Given the description of an element on the screen output the (x, y) to click on. 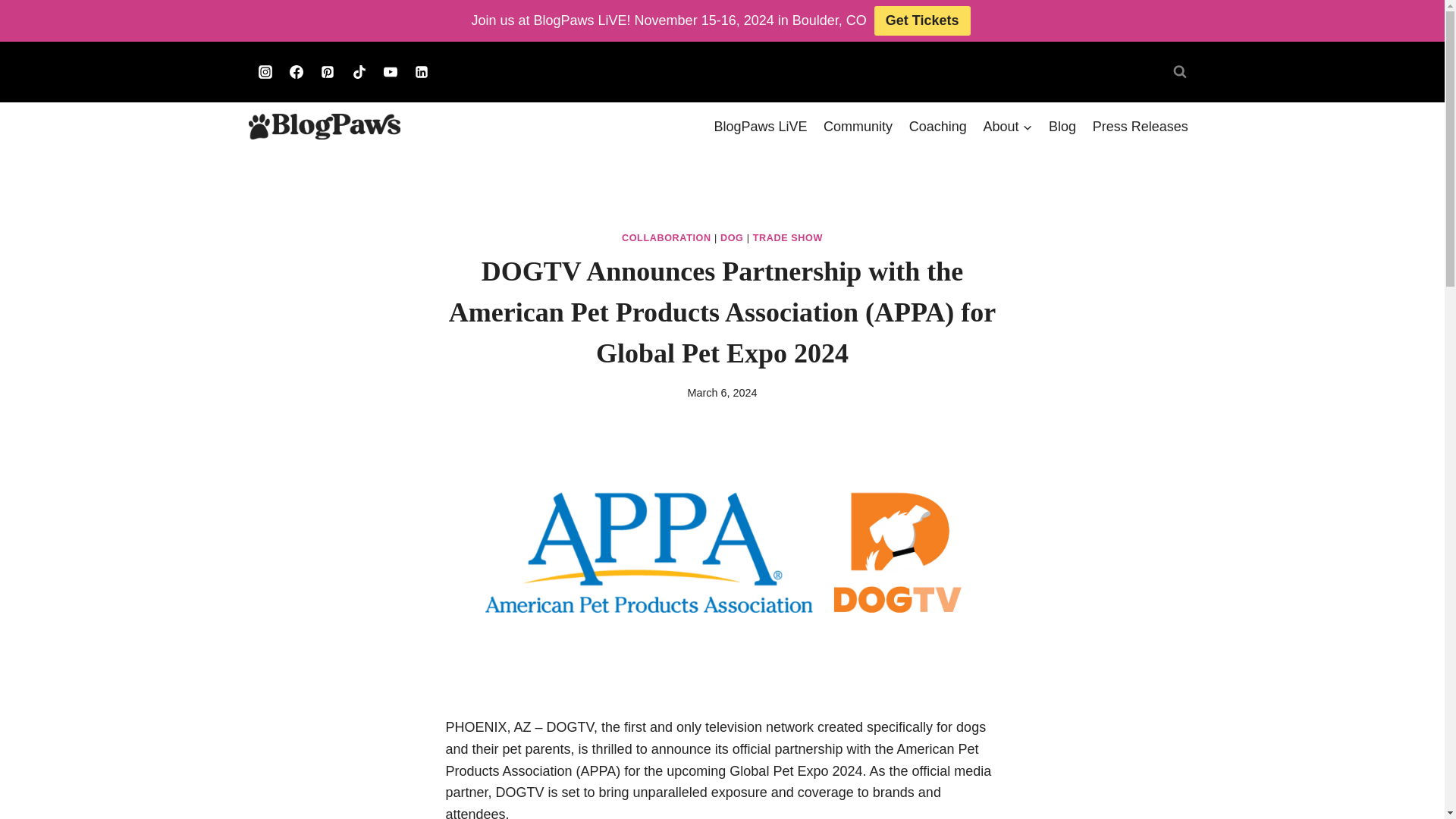
COLLABORATION (666, 237)
Coaching (938, 126)
About (1008, 126)
TRADE SHOW (787, 237)
Get Tickets (923, 20)
BlogPaws LiVE (760, 126)
Blog (1062, 126)
DOG (732, 237)
Community (858, 126)
Press Releases (1140, 126)
